Given the description of an element on the screen output the (x, y) to click on. 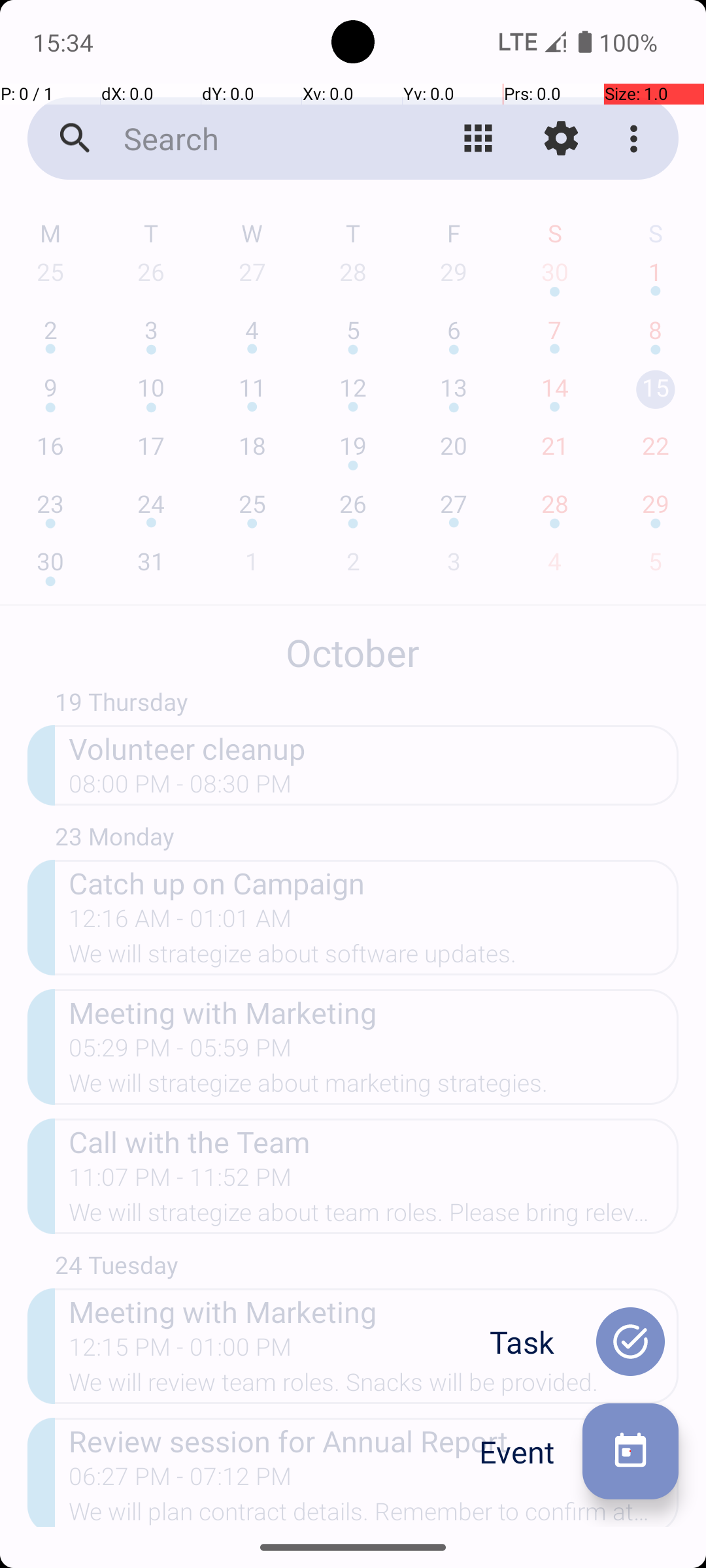
24 Tuesday Element type: android.widget.TextView (366, 1267)
Volunteer cleanup Element type: android.widget.TextView (373, 747)
08:00 PM - 08:30 PM Element type: android.widget.TextView (179, 787)
12:16 AM - 01:01 AM Element type: android.widget.TextView (179, 922)
We will strategize about software updates. Element type: android.widget.TextView (373, 957)
05:29 PM - 05:59 PM Element type: android.widget.TextView (179, 1051)
We will strategize about marketing strategies. Element type: android.widget.TextView (373, 1086)
11:07 PM - 11:52 PM Element type: android.widget.TextView (179, 1180)
We will strategize about team roles. Please bring relevant documents. Element type: android.widget.TextView (373, 1216)
12:15 PM - 01:00 PM Element type: android.widget.TextView (179, 1350)
We will review team roles. Snacks will be provided. Element type: android.widget.TextView (373, 1386)
06:27 PM - 07:12 PM Element type: android.widget.TextView (179, 1480)
We will plan contract details. Remember to confirm attendance. Element type: android.widget.TextView (373, 1512)
